Given the description of an element on the screen output the (x, y) to click on. 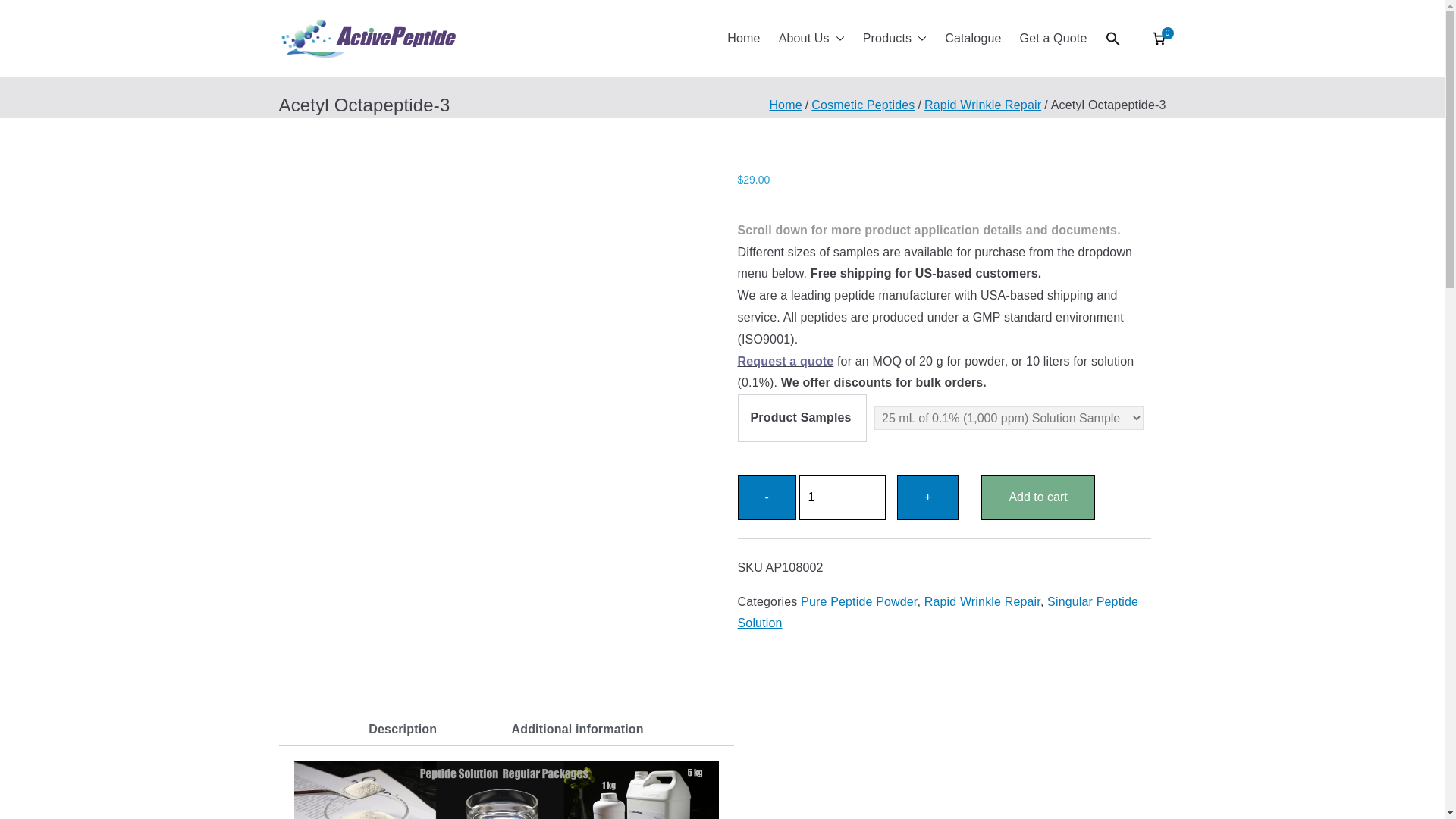
Home (785, 104)
1 (842, 497)
Products (894, 38)
Get a Quote (1053, 38)
Cosmetic Peptides (862, 104)
Rapid Wrinkle Repair (982, 104)
About Us (811, 38)
Active Peptide (575, 58)
View your shopping cart (1158, 38)
0 (1158, 38)
Home (743, 38)
Catalogue (972, 38)
